Given the description of an element on the screen output the (x, y) to click on. 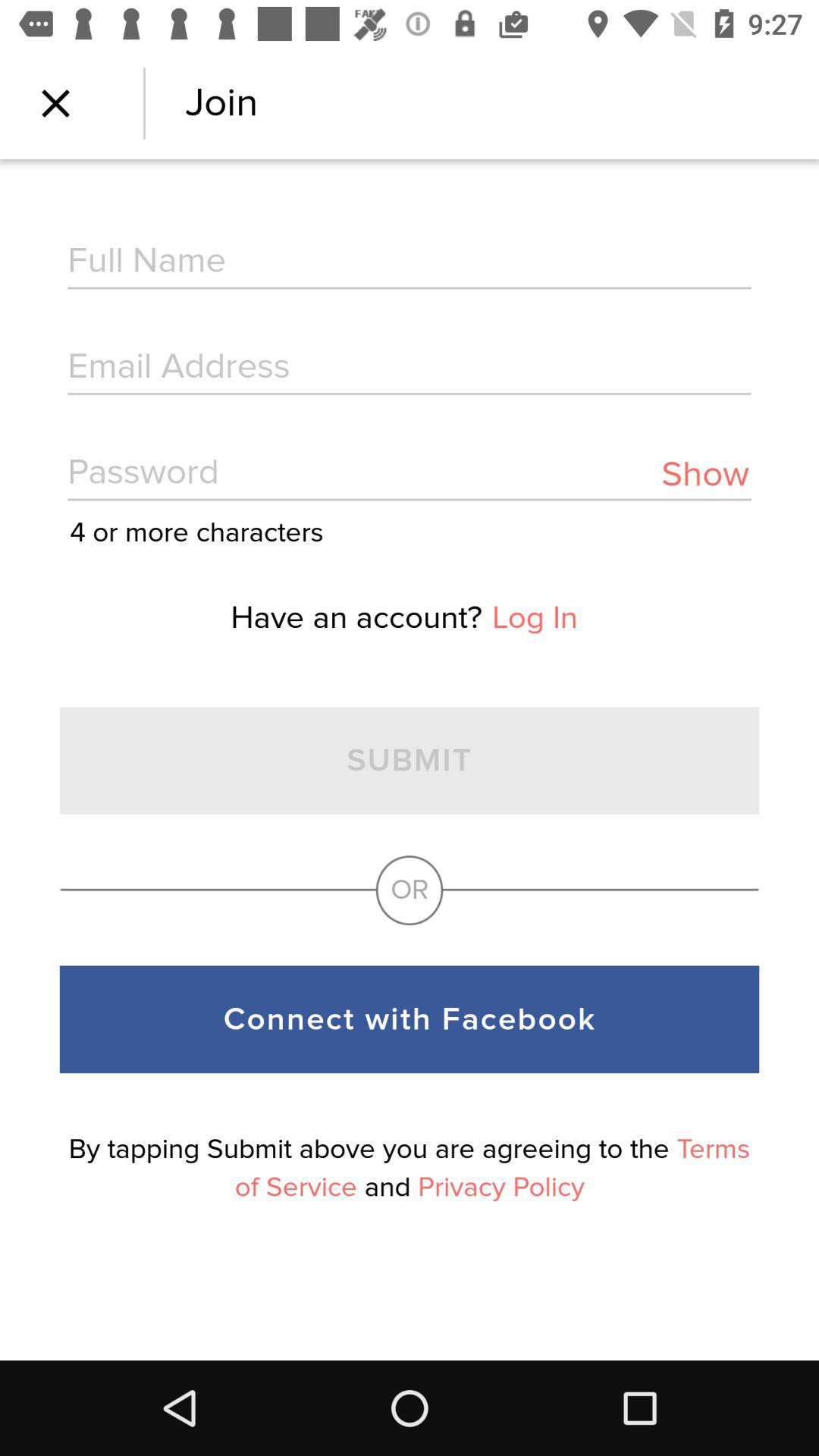
flip to show item (705, 474)
